Given the description of an element on the screen output the (x, y) to click on. 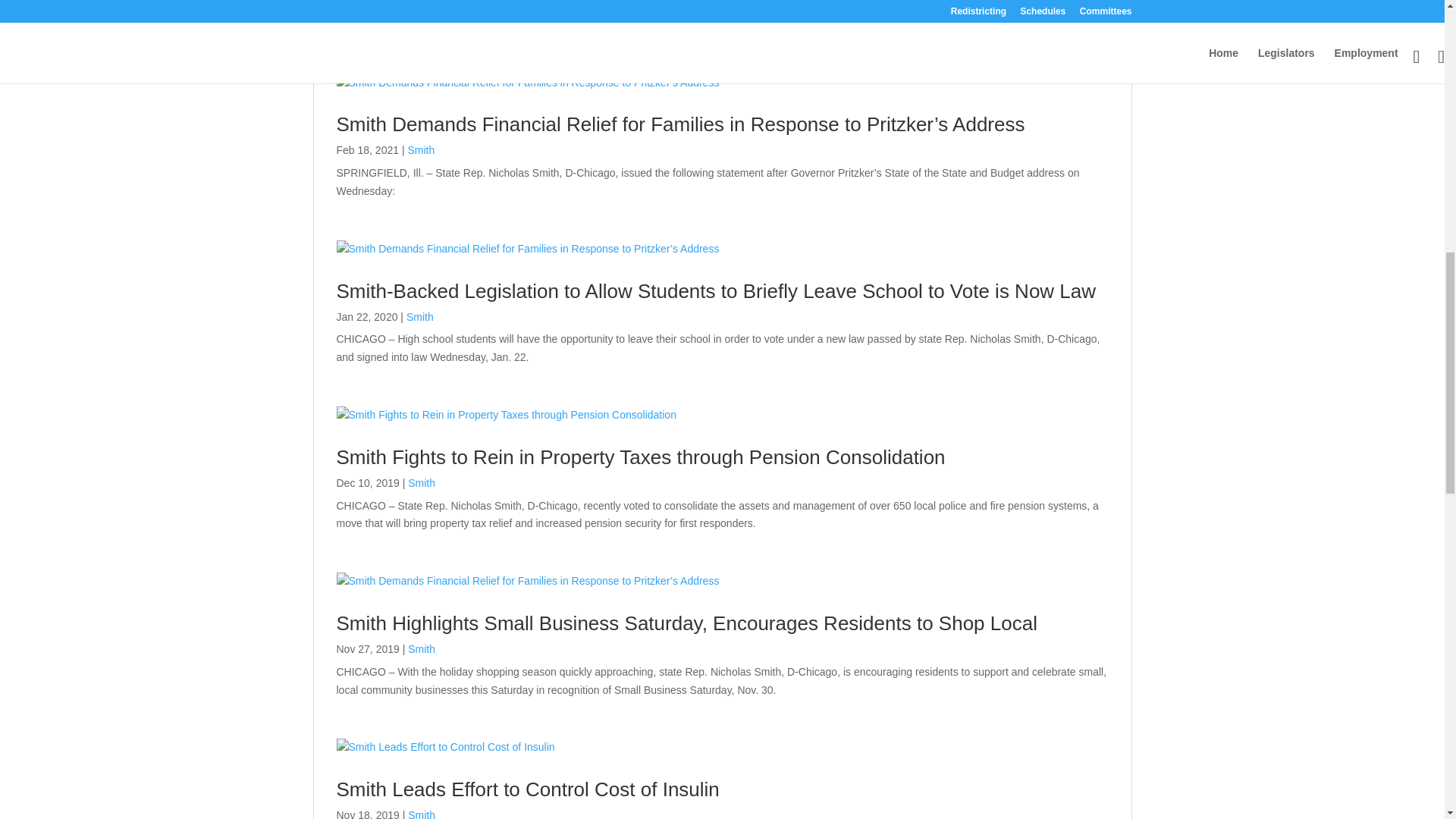
Smith (421, 482)
Smith (421, 648)
Smith (420, 150)
Smith (419, 316)
News (350, 43)
Smith (421, 814)
Smith Leads Effort to Control Cost of Insulin (527, 789)
